Given the description of an element on the screen output the (x, y) to click on. 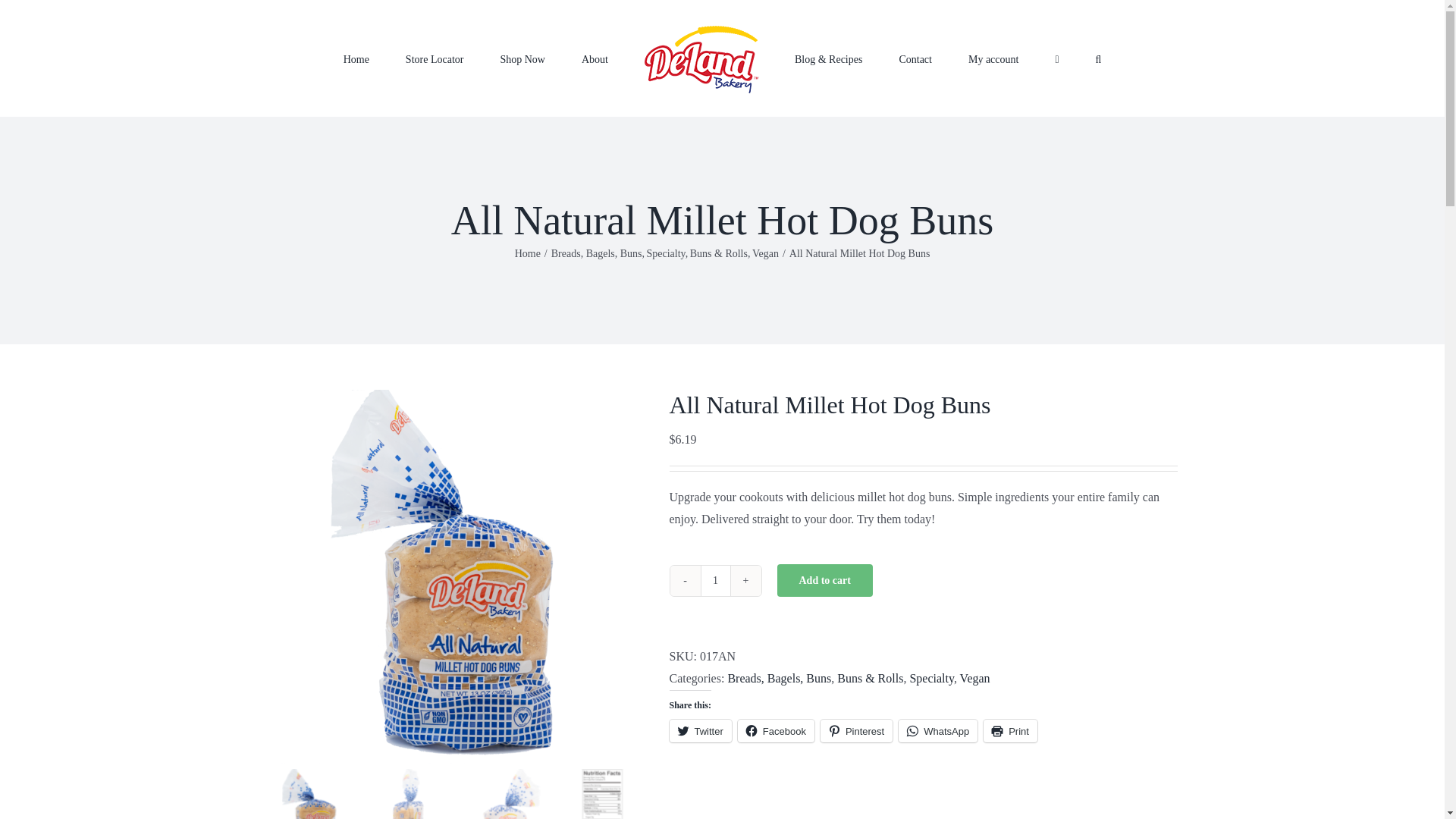
1 (715, 580)
- (684, 580)
Click to share on Twitter (699, 730)
Store Locator (435, 58)
Click to share on Facebook (775, 730)
Click to share on Pinterest (856, 730)
